Given the description of an element on the screen output the (x, y) to click on. 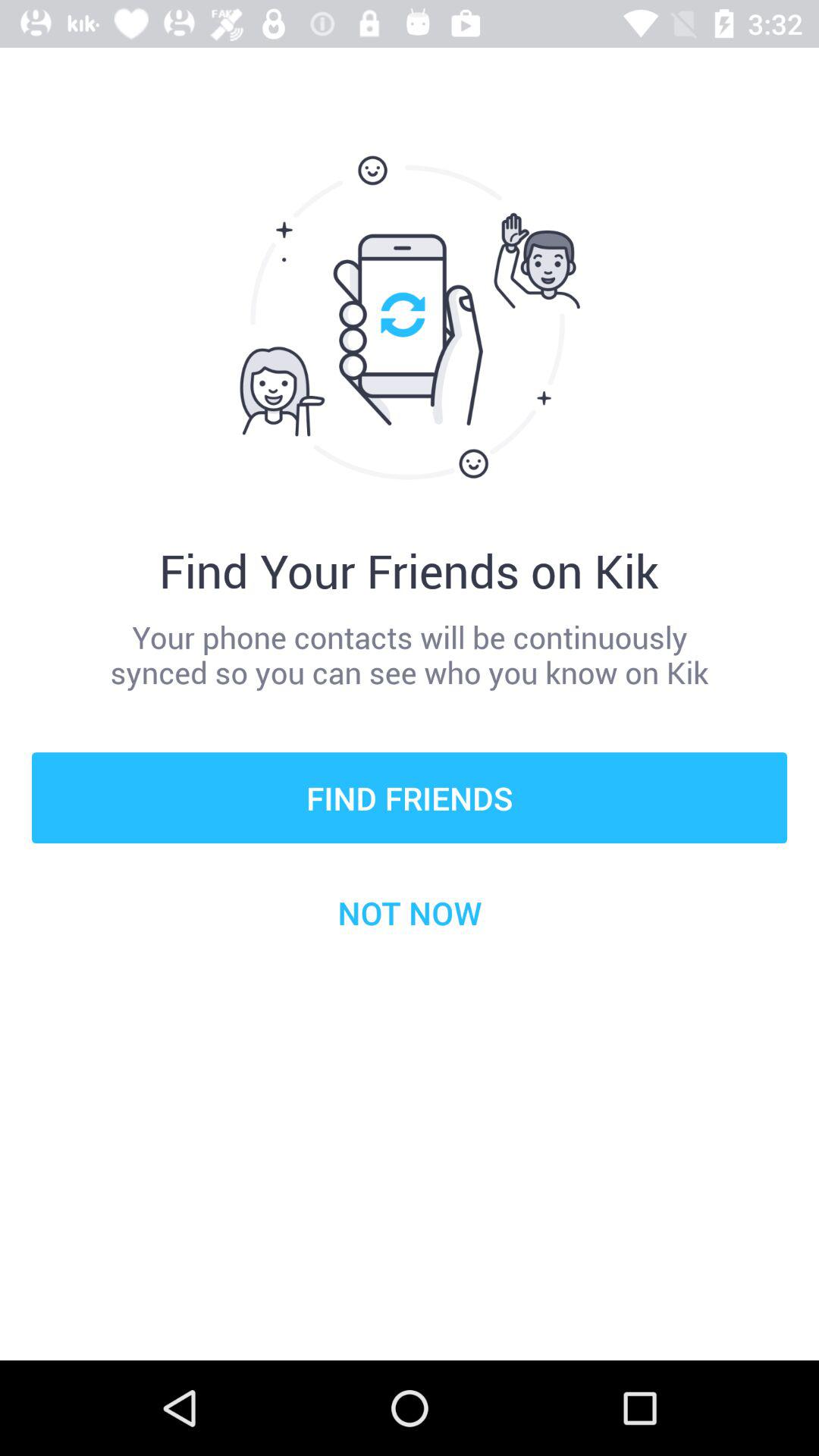
turn off not now (409, 912)
